Given the description of an element on the screen output the (x, y) to click on. 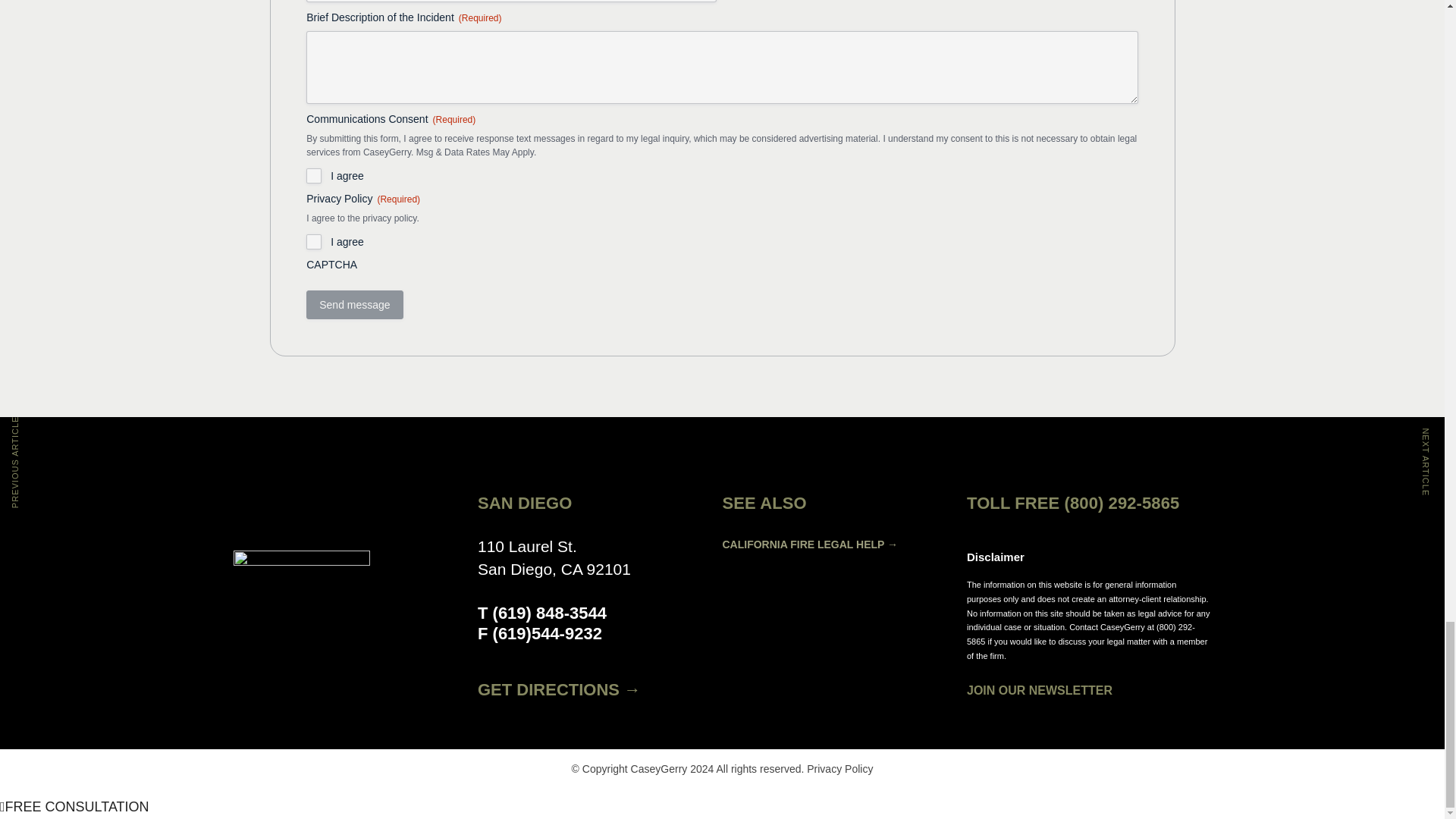
Send message (354, 304)
I agree (313, 175)
I agree (313, 241)
